Given the description of an element on the screen output the (x, y) to click on. 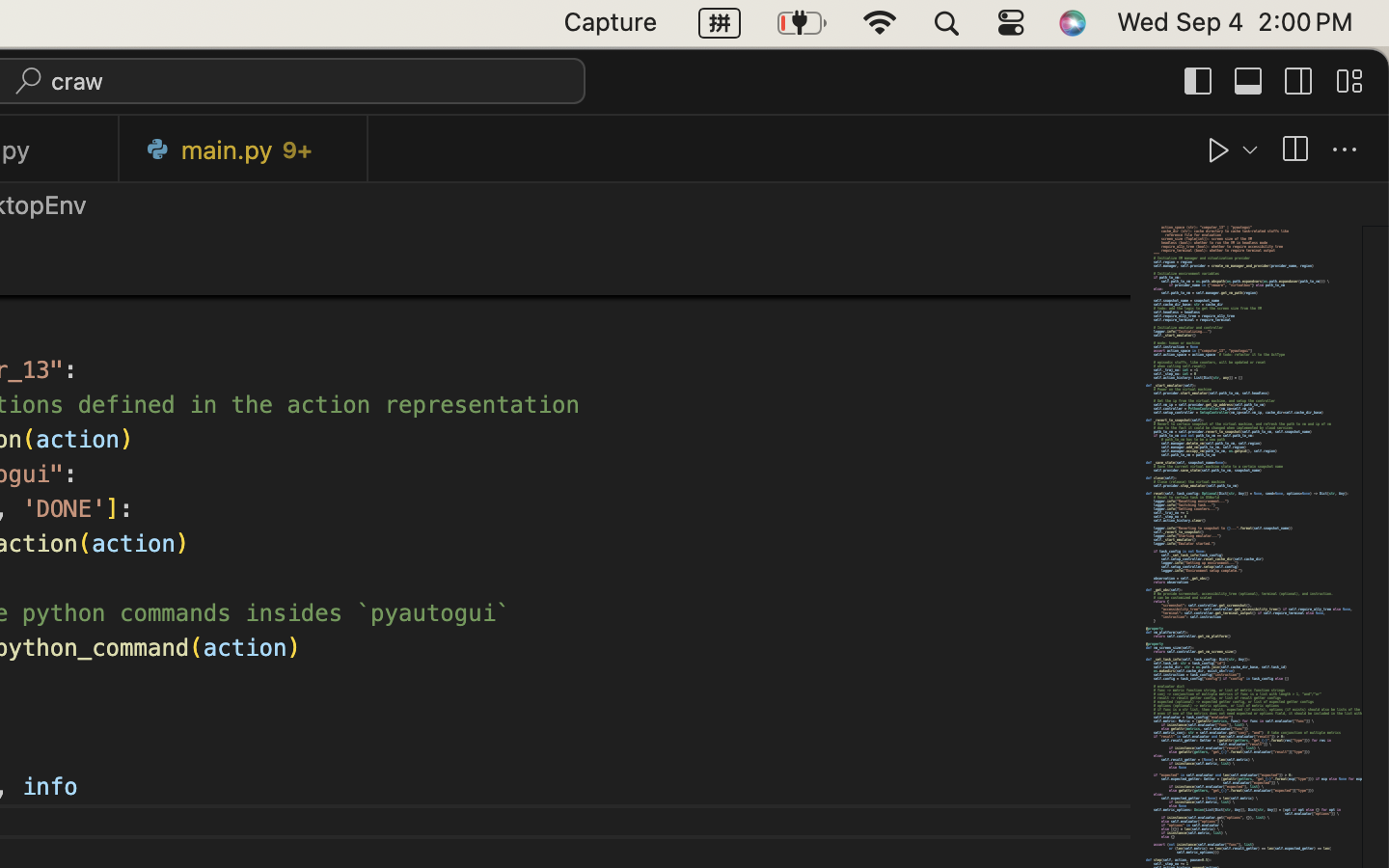
0 main.py   9+ Element type: AXRadioButton (243, 149)
 Element type: AXButton (1294, 150)
 Element type: AXButton (1349, 80)
 Element type: AXCheckBox (1248, 80)
